Given the description of an element on the screen output the (x, y) to click on. 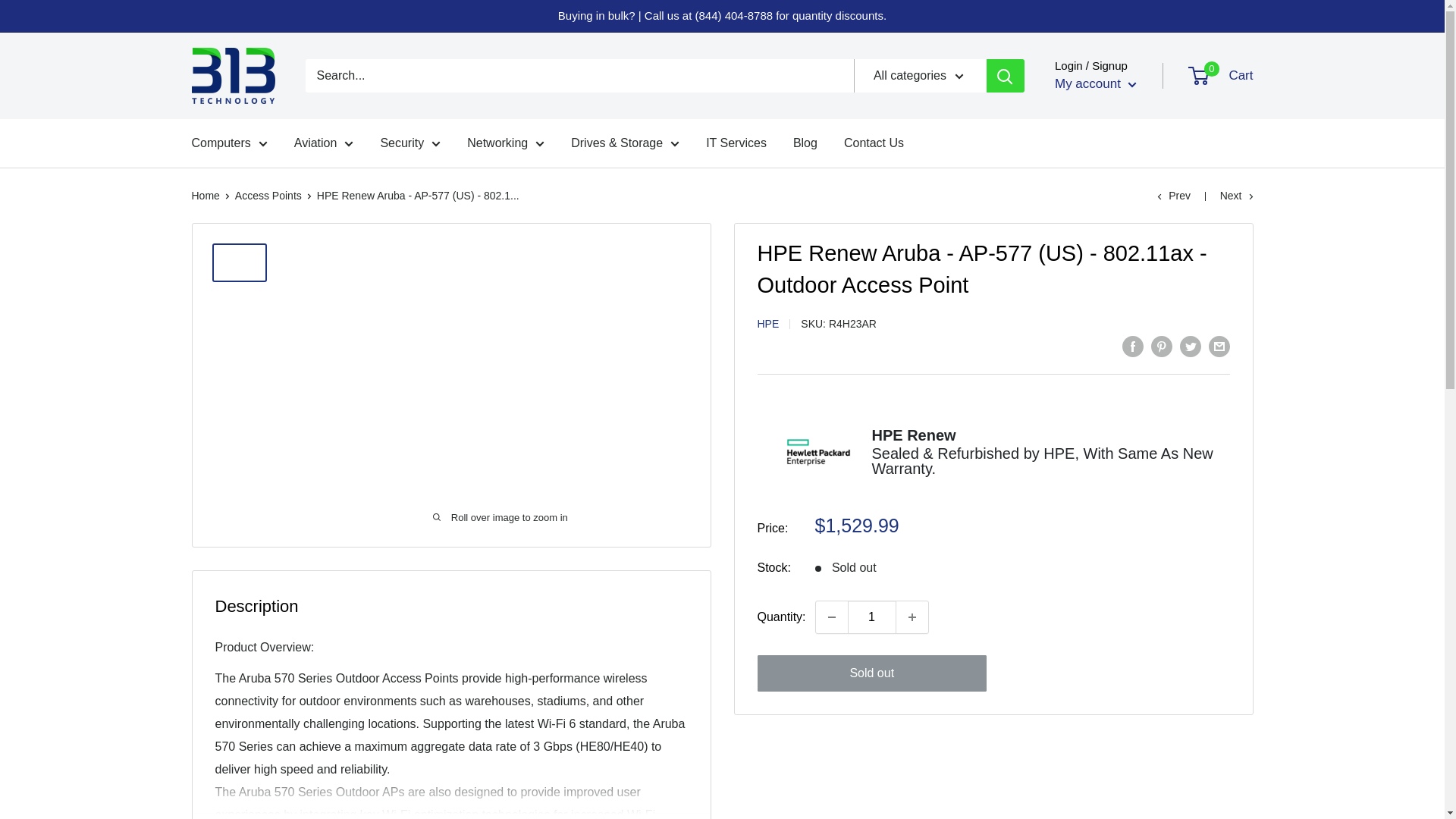
Increase quantity by 1 (912, 617)
1 (871, 617)
Decrease quantity by 1 (831, 617)
